Given the description of an element on the screen output the (x, y) to click on. 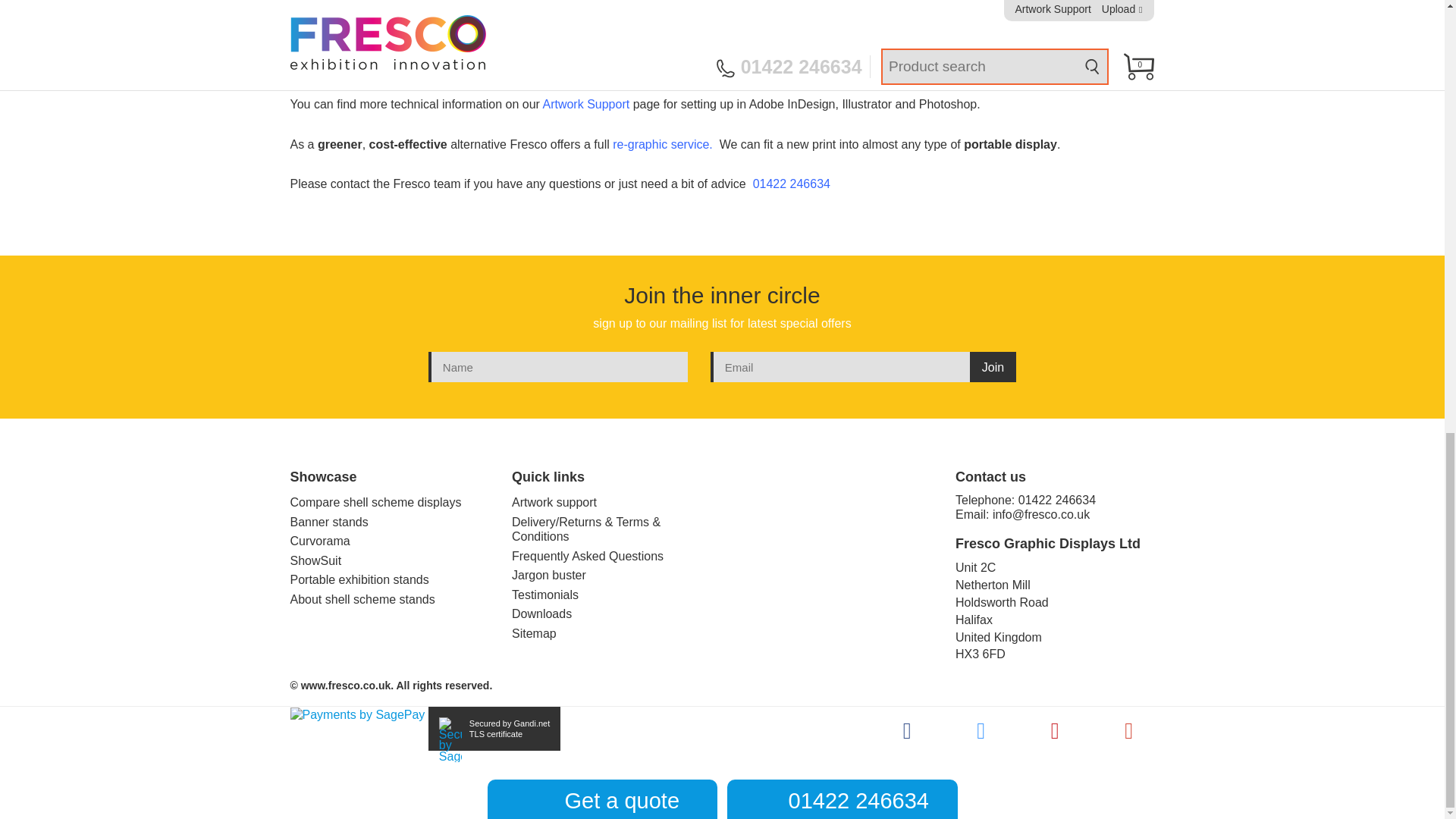
Join (992, 367)
